Given the description of an element on the screen output the (x, y) to click on. 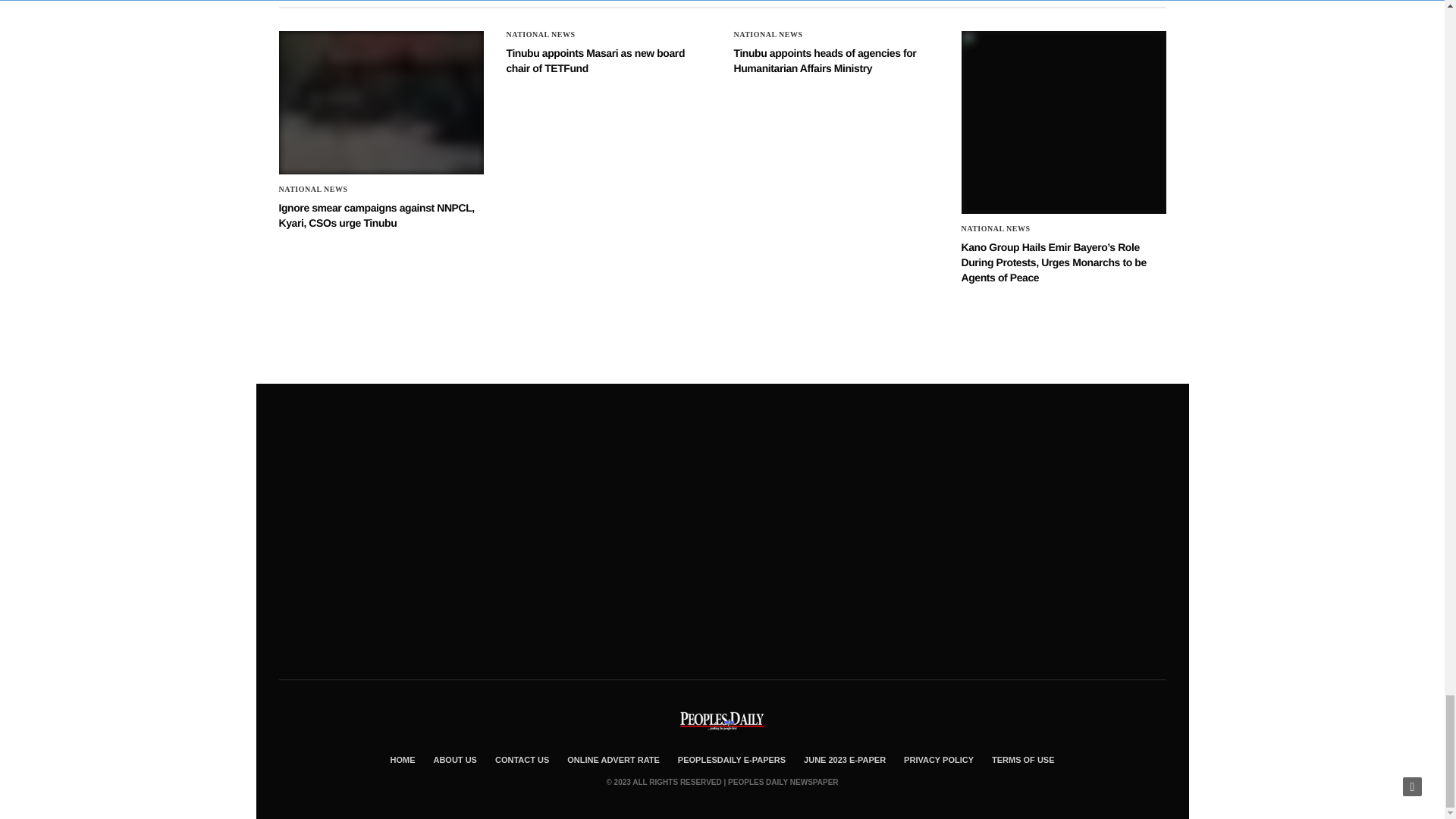
National News (540, 34)
National News (313, 189)
Tinubu appoints Masari as new board chair of TETFund (595, 60)
National News (768, 34)
